Given the description of an element on the screen output the (x, y) to click on. 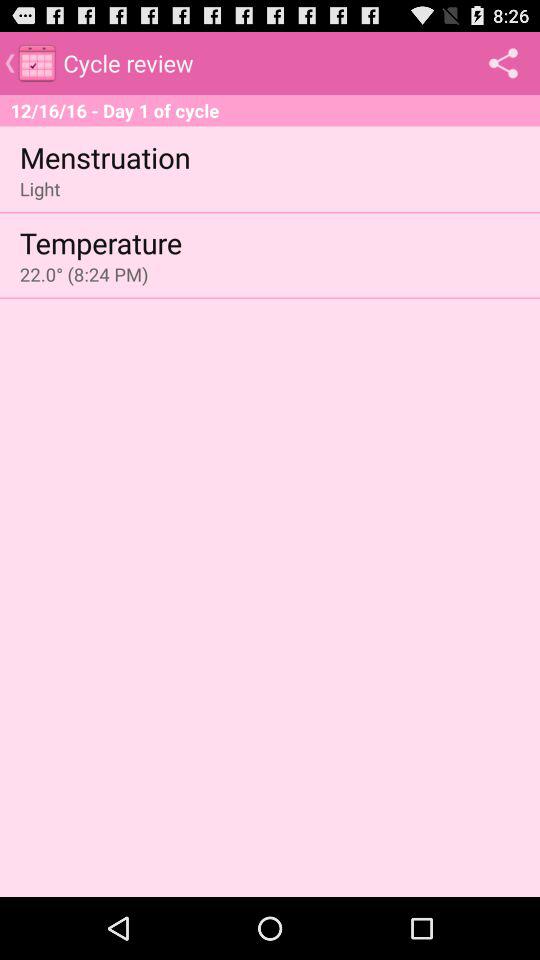
choose the item above the menstruation app (270, 109)
